Given the description of an element on the screen output the (x, y) to click on. 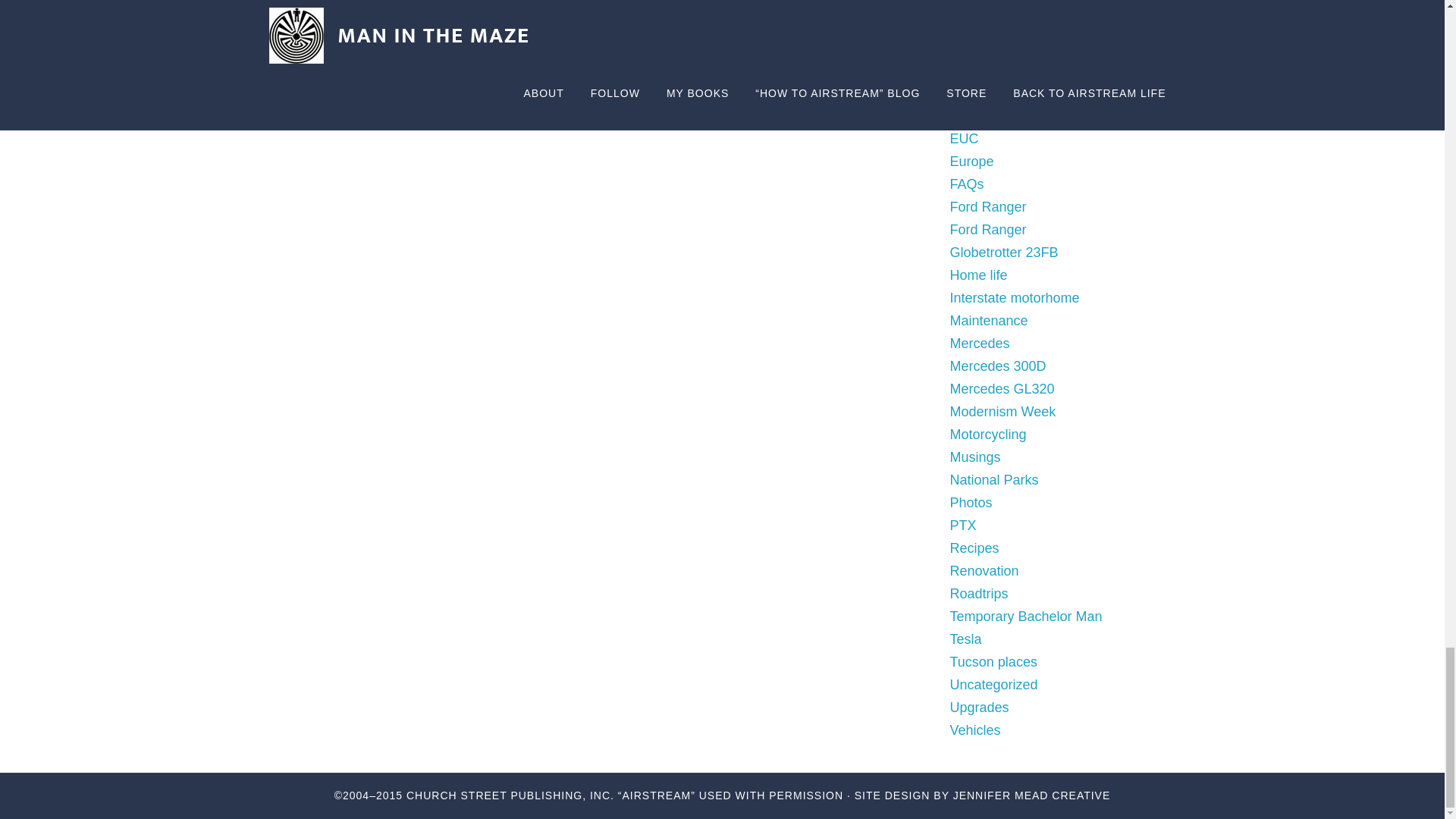
Jennifer Mead Creative (1031, 795)
